Given the description of an element on the screen output the (x, y) to click on. 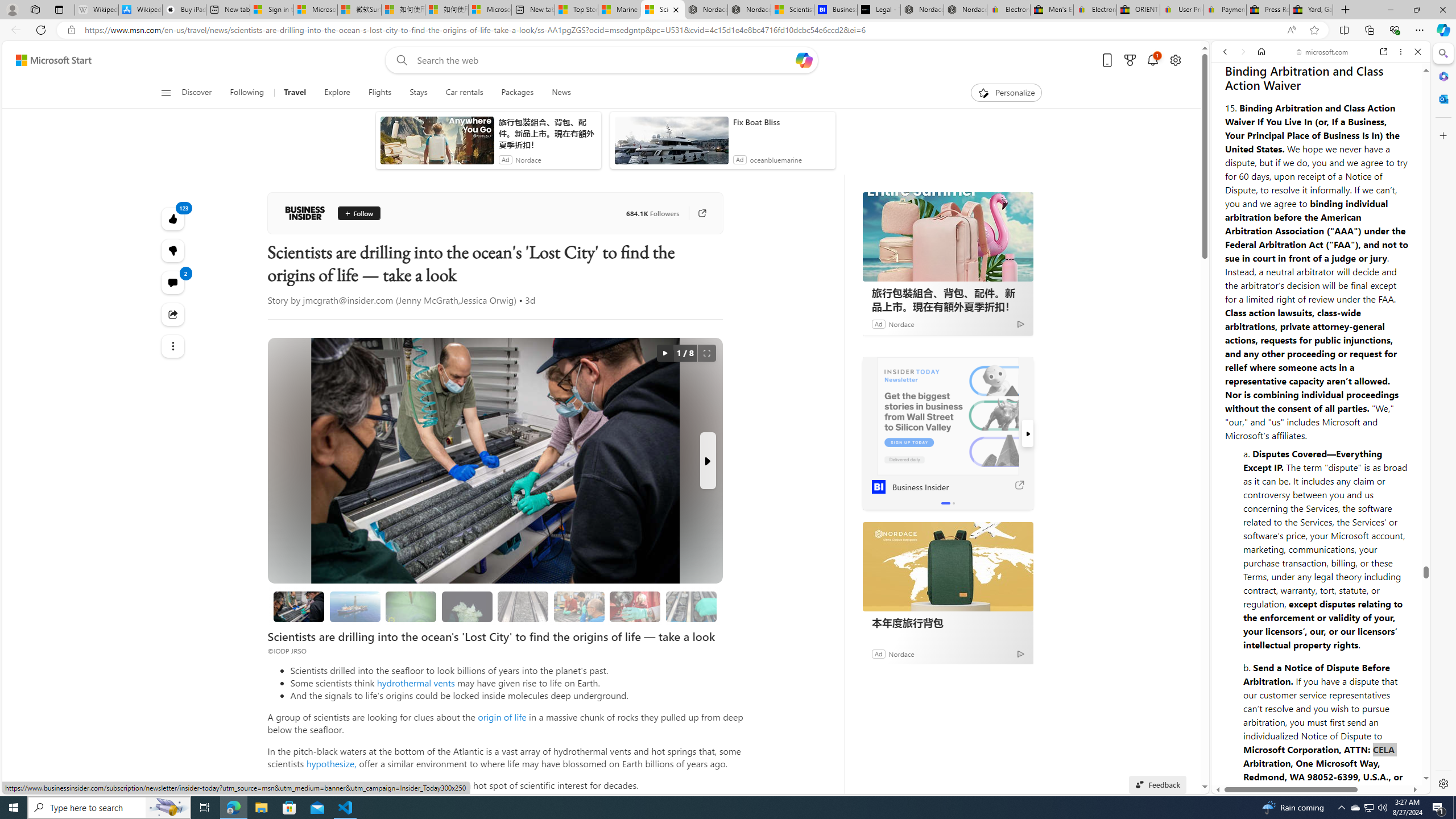
Open in New Tab (1321, 768)
origin of life (502, 716)
Stays (418, 92)
View comments 2 Comment (172, 282)
